Given the description of an element on the screen output the (x, y) to click on. 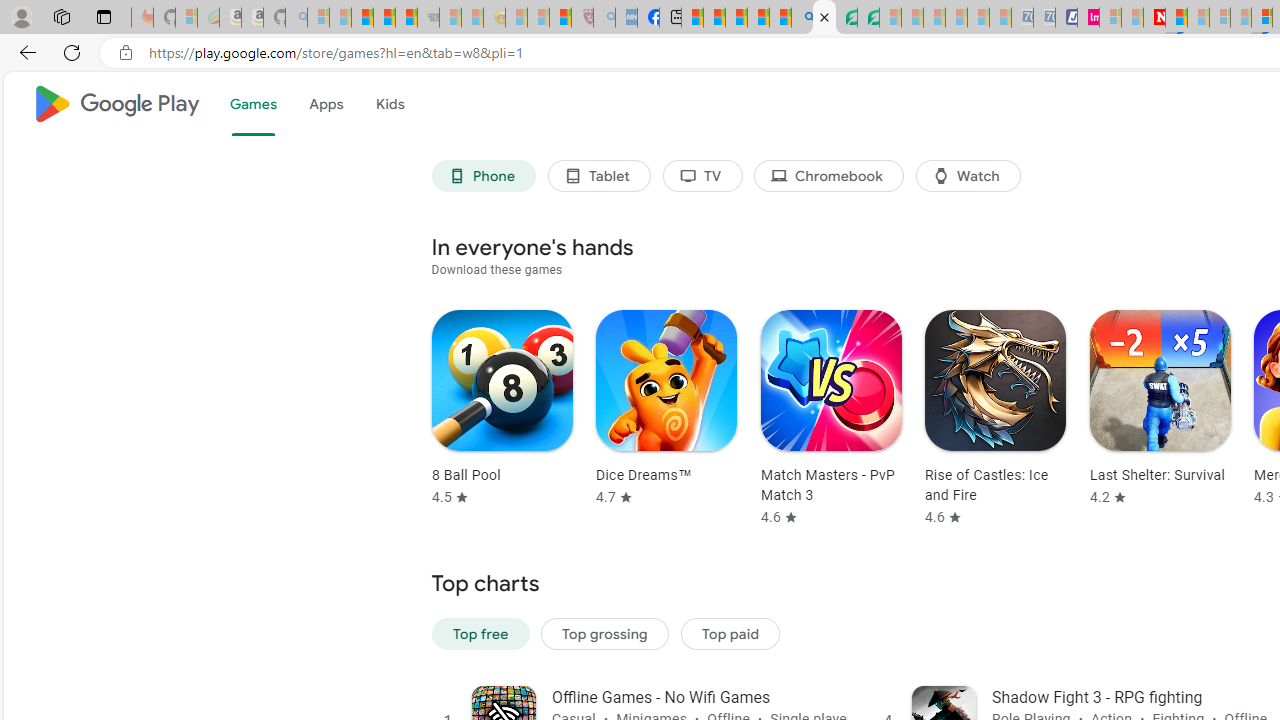
Recipes - MSN - Sleeping (516, 17)
Terms of Use Agreement (846, 17)
Rise of Castles: Ice and Fire4.6 (989, 418)
Microsoft Start - Sleeping (1132, 17)
Combat Siege (428, 17)
The Weather Channel - MSN (362, 17)
Robert H. Shmerling, MD - Harvard Health - Sleeping (582, 17)
Class: ULeU3b (968, 176)
Cheap Car Rentals - Save70.com - Sleeping (1022, 17)
